Given the description of an element on the screen output the (x, y) to click on. 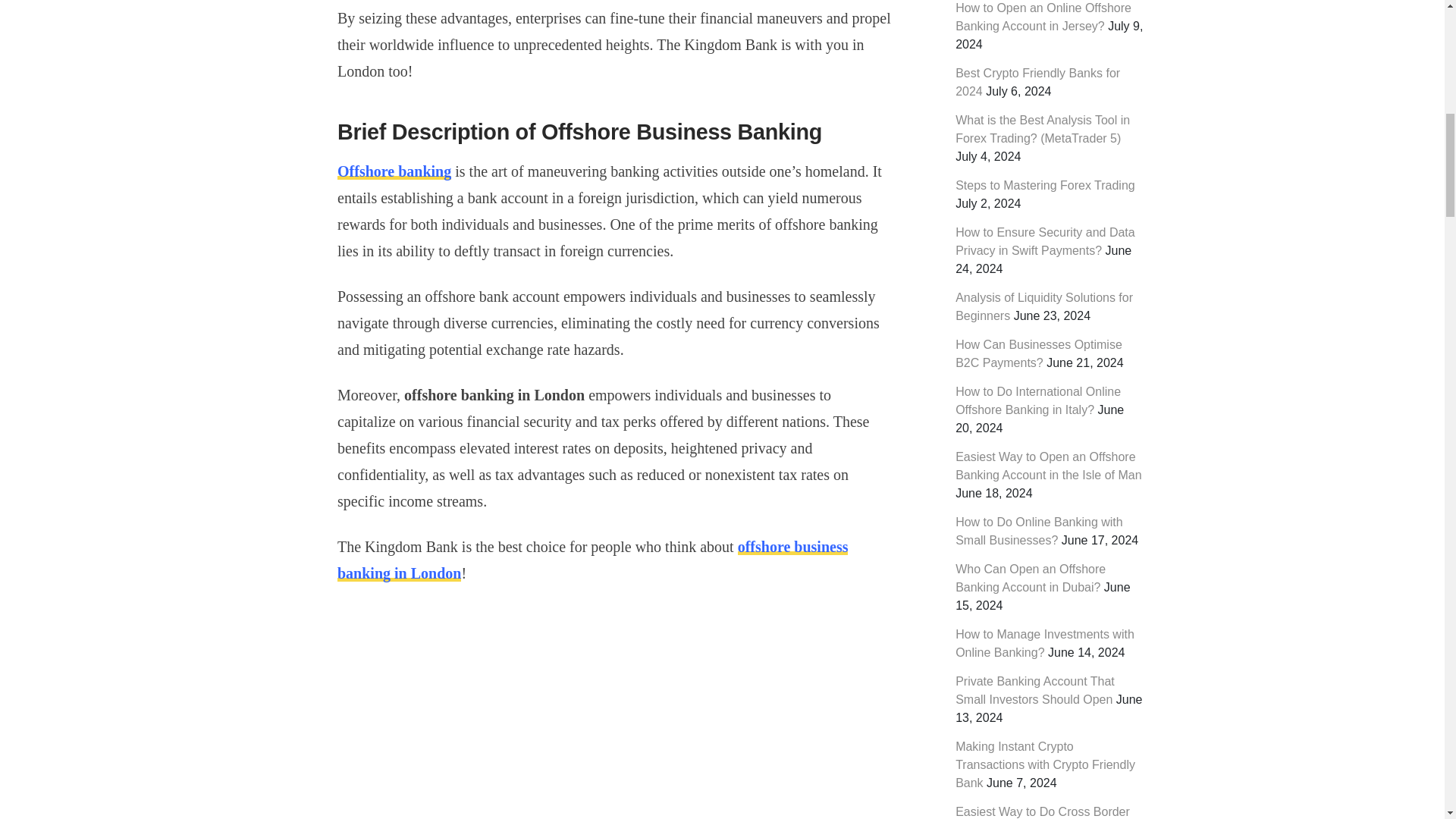
How to Do International Online Offshore Banking in Italy? (1038, 400)
Analysis of Liquidity Solutions for Beginners (1043, 306)
How to Do Online Banking with Small Businesses? (1038, 531)
How Can Businesses Optimise B2C Payments? (1038, 353)
offshore business banking in London (592, 559)
How to Open an Online Offshore Banking Account in Jersey? (1043, 16)
How to Ensure Security and Data Privacy in Swift Payments? (1045, 241)
Best Crypto Friendly Banks for 2024 (1037, 81)
Offshore banking (394, 170)
Steps to Mastering Forex Trading (1045, 185)
